Given the description of an element on the screen output the (x, y) to click on. 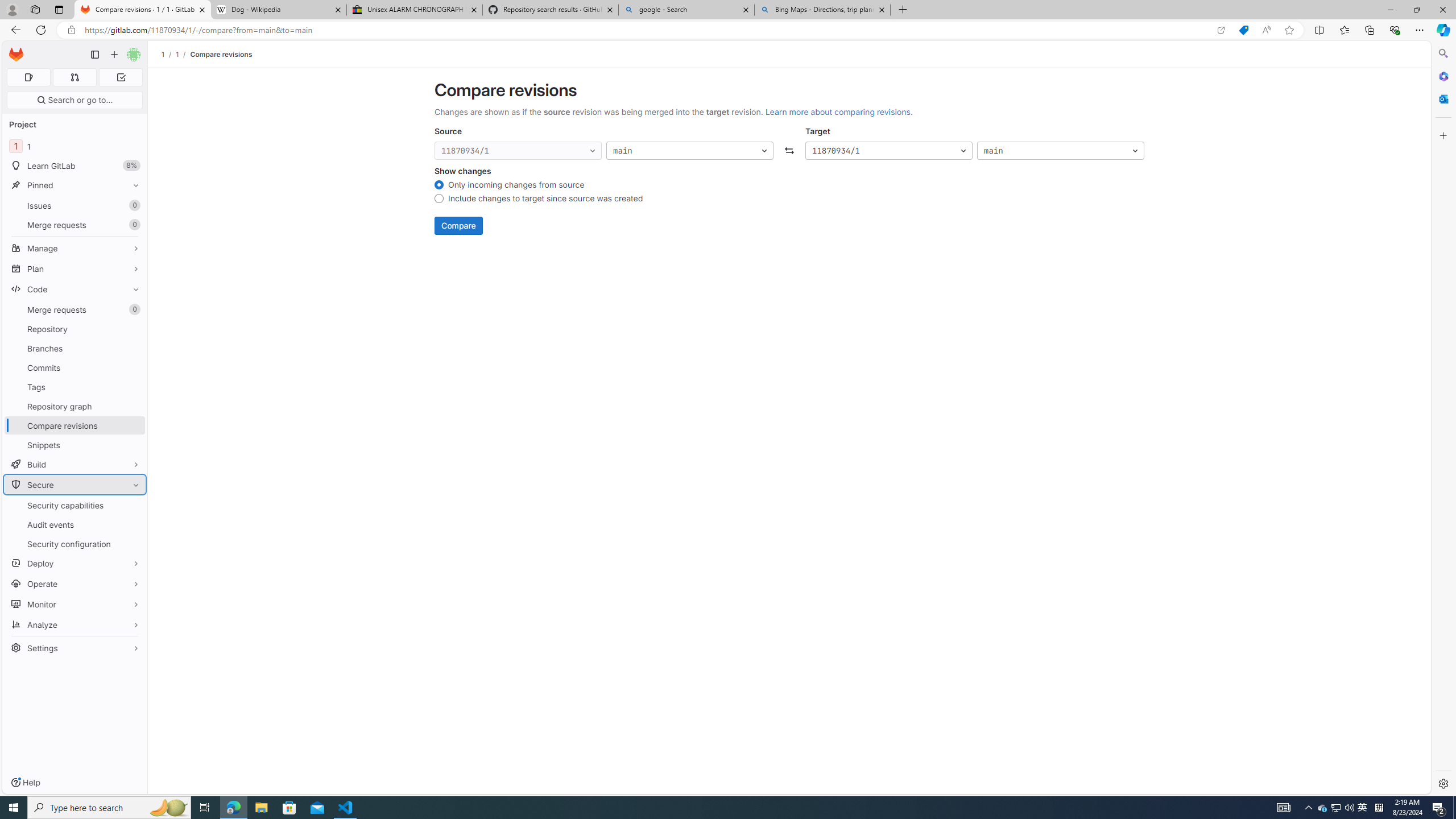
Learn more about comparing revisions. (838, 111)
Branches (74, 348)
Operate (74, 583)
Build (74, 464)
1/ (183, 53)
Monitor (74, 603)
Tags (74, 386)
Pin Compare revisions (132, 425)
Compare (458, 226)
Issues 0 (74, 205)
Unpin Issues (132, 205)
